Given the description of an element on the screen output the (x, y) to click on. 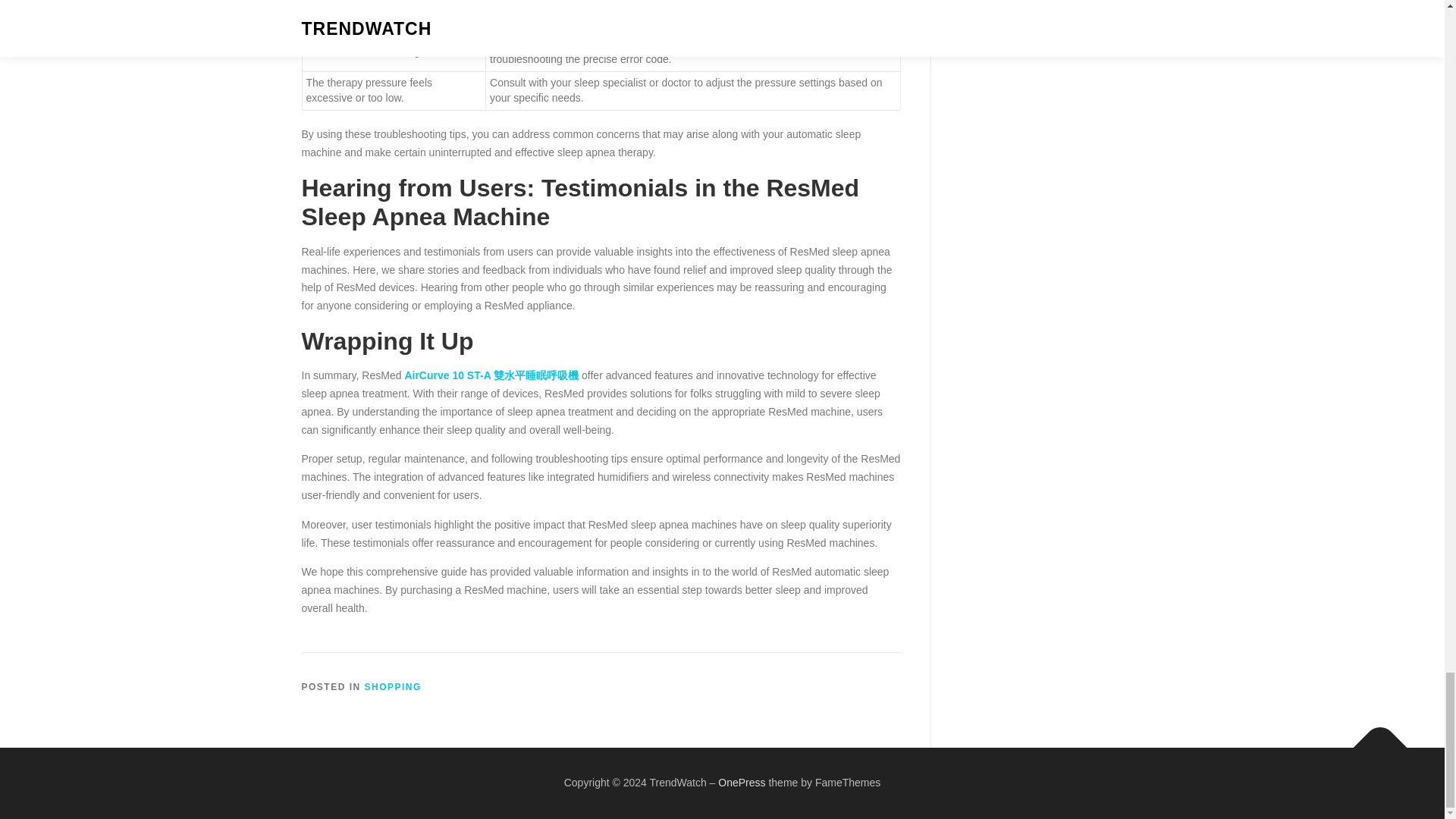
SHOPPING (393, 686)
Back To Top (1372, 740)
